Given the description of an element on the screen output the (x, y) to click on. 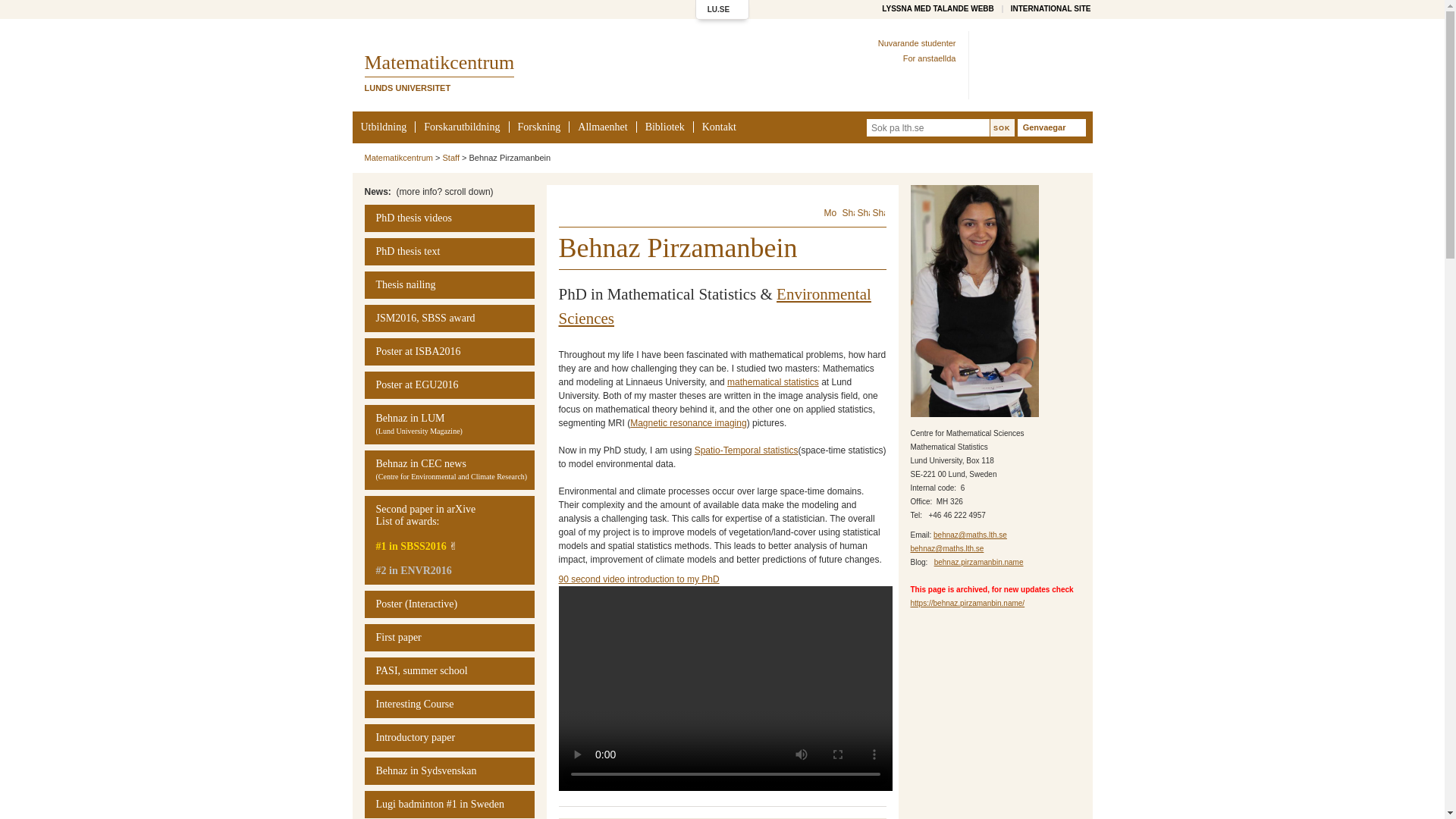
Matematikcentrum (438, 62)
Sport you should play before you die (449, 770)
Nuvarande studenter (916, 42)
INTERNATIONAL SITE (1050, 8)
Sport you should play before you die (449, 804)
Thesis nailing you should see before you die (449, 284)
Course you should attend before you die (449, 704)
LUM (449, 424)
PhD thesis videos you should see before you die (449, 217)
Second paper you should read before you die (449, 540)
For anstaellda (929, 58)
Summer school you should attend before you die (449, 670)
Sok (1002, 127)
First paper you should read before you die (449, 637)
LUM (449, 469)
